Given the description of an element on the screen output the (x, y) to click on. 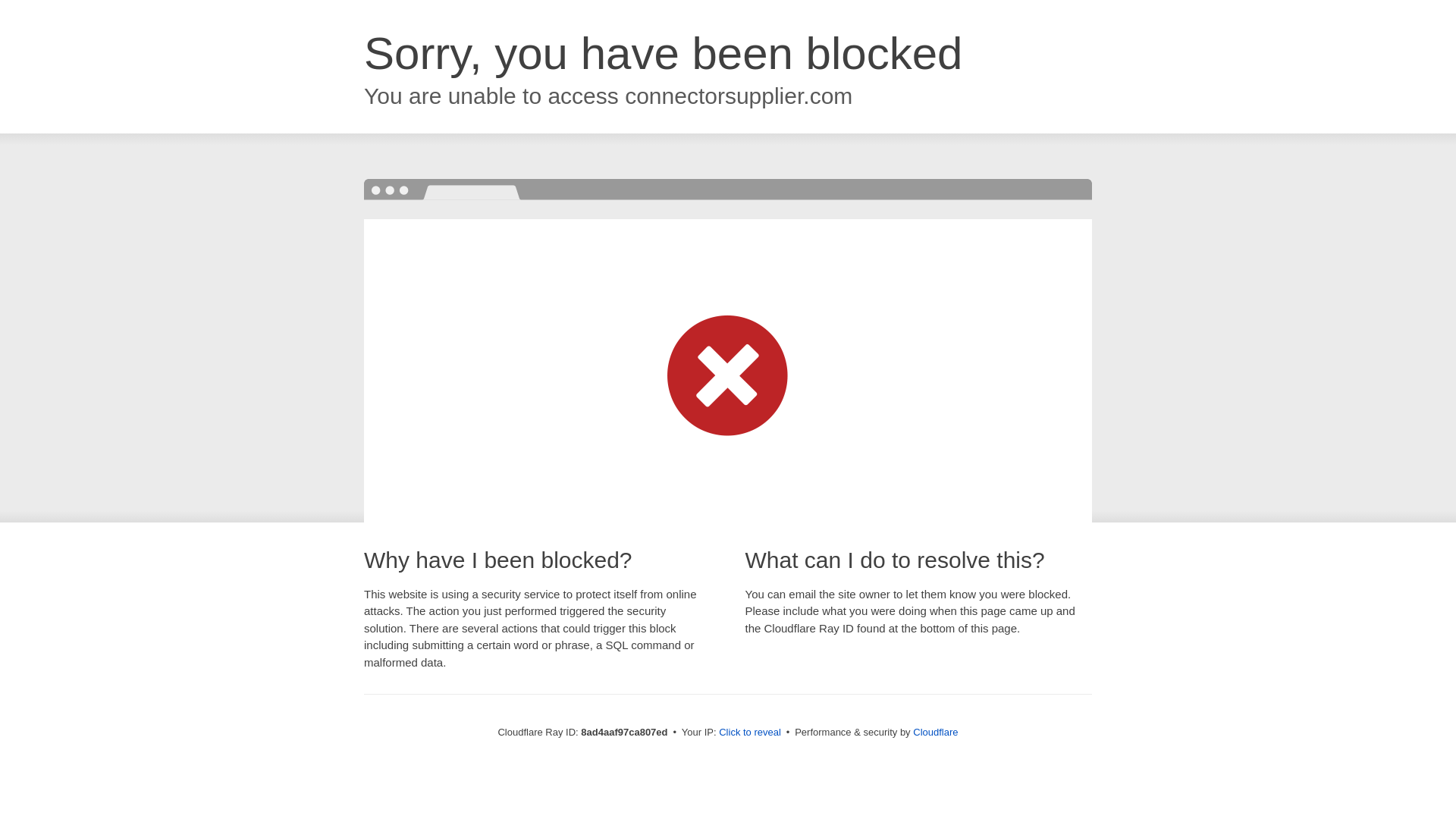
Cloudflare (935, 731)
Click to reveal (749, 732)
